Given the description of an element on the screen output the (x, y) to click on. 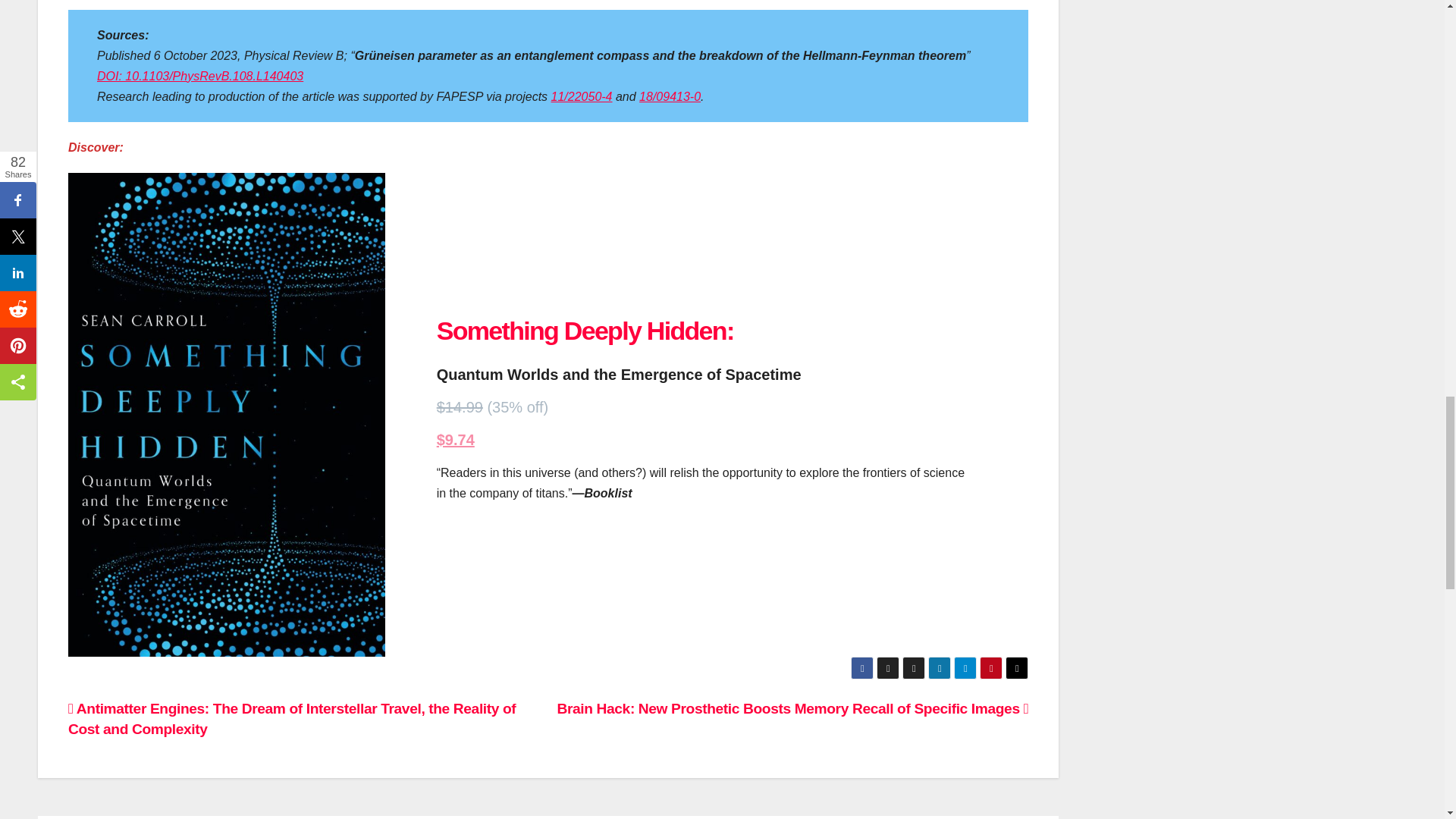
Something Deeply Hidden: (584, 330)
